Given the description of an element on the screen output the (x, y) to click on. 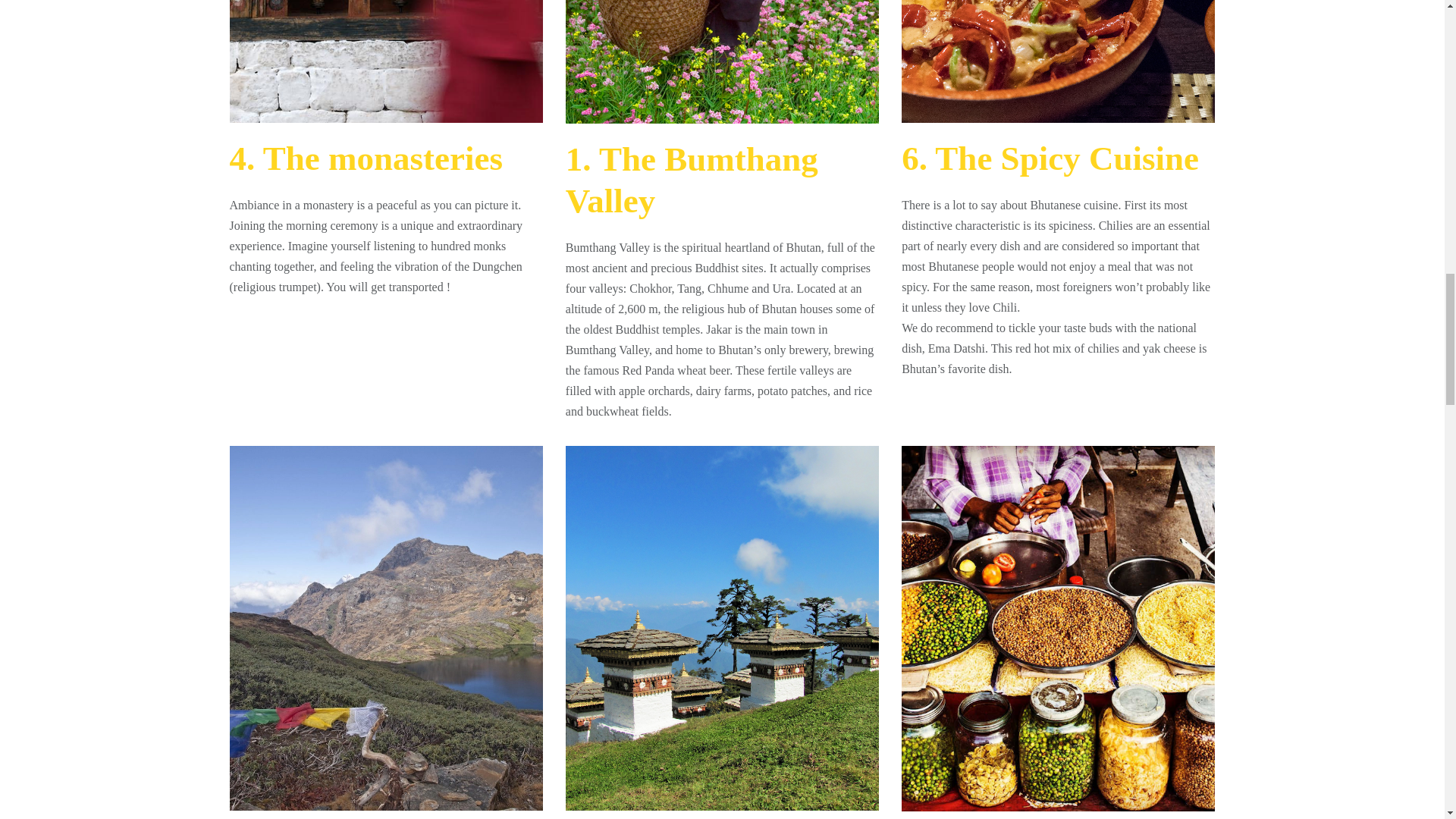
Bumthang Valley - Top attraction (722, 61)
Monasteries of Bhutan - Top attraction (384, 61)
Cuisine of bhutan - Top attraction (1057, 61)
